Given the description of an element on the screen output the (x, y) to click on. 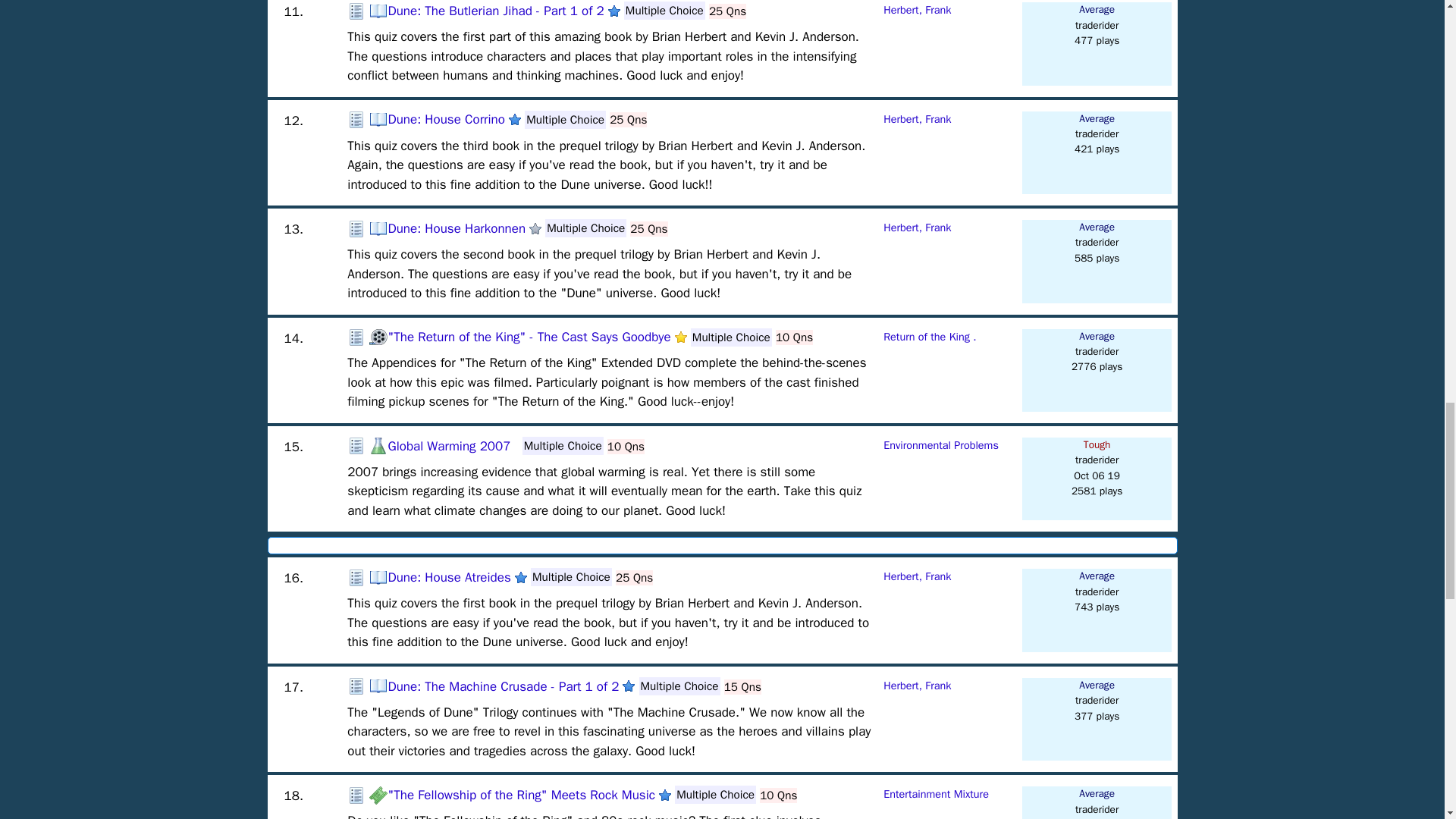
A well rated quiz (514, 119)
A well rated quiz (614, 10)
A well rated quiz (521, 577)
A well rated quiz (628, 686)
A well rated quiz (665, 795)
